Given the description of an element on the screen output the (x, y) to click on. 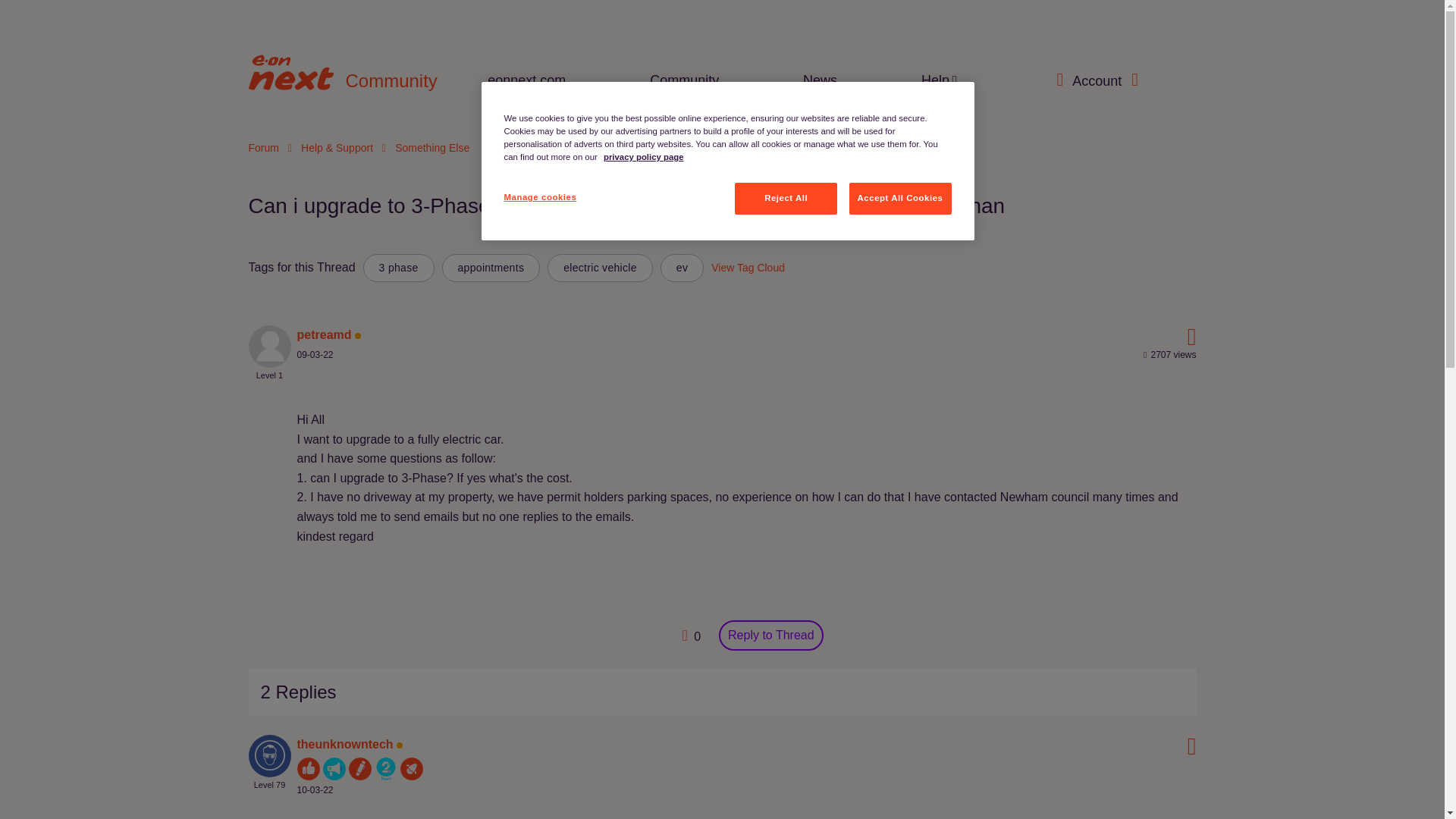
Something Else (431, 147)
theunknowntech's Avatar (269, 755)
petreamd is offline (324, 334)
Reply to Thread (771, 634)
Influencer Lvl 5 (308, 768)
appointments (491, 267)
petreamd (324, 334)
Explorer Level 5 (411, 768)
3 phase (397, 267)
Forum (263, 147)
Cheerleader Lvl 2 (334, 768)
eonnext.com (526, 80)
theunknowntech is offline (345, 744)
Generator Lvl 5 (360, 768)
View Tag Cloud (747, 267)
